Given the description of an element on the screen output the (x, y) to click on. 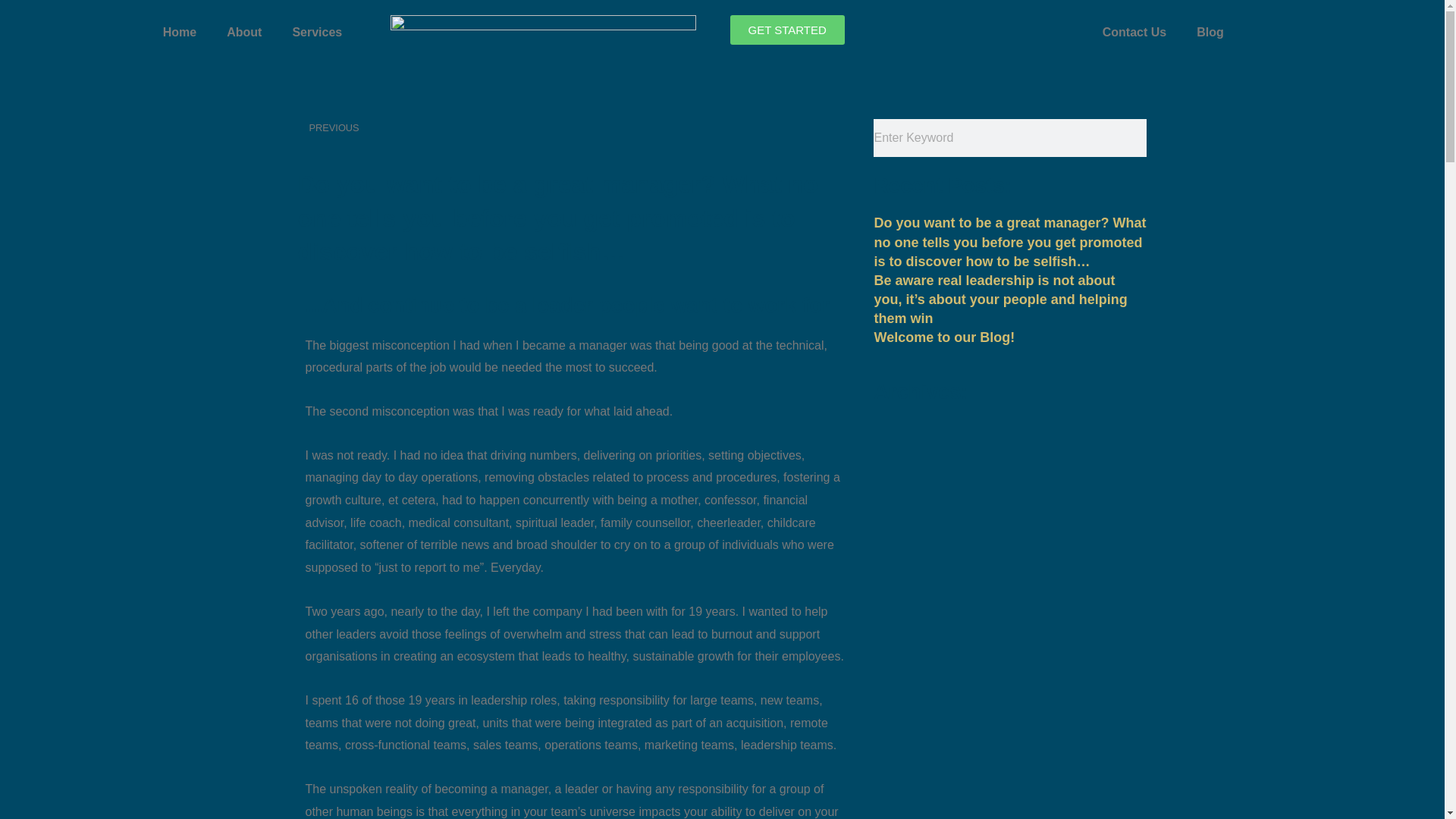
Home (179, 32)
Services (436, 127)
Blog (316, 32)
Contact Us (1209, 32)
About (1133, 32)
GET STARTED (243, 32)
